Given the description of an element on the screen output the (x, y) to click on. 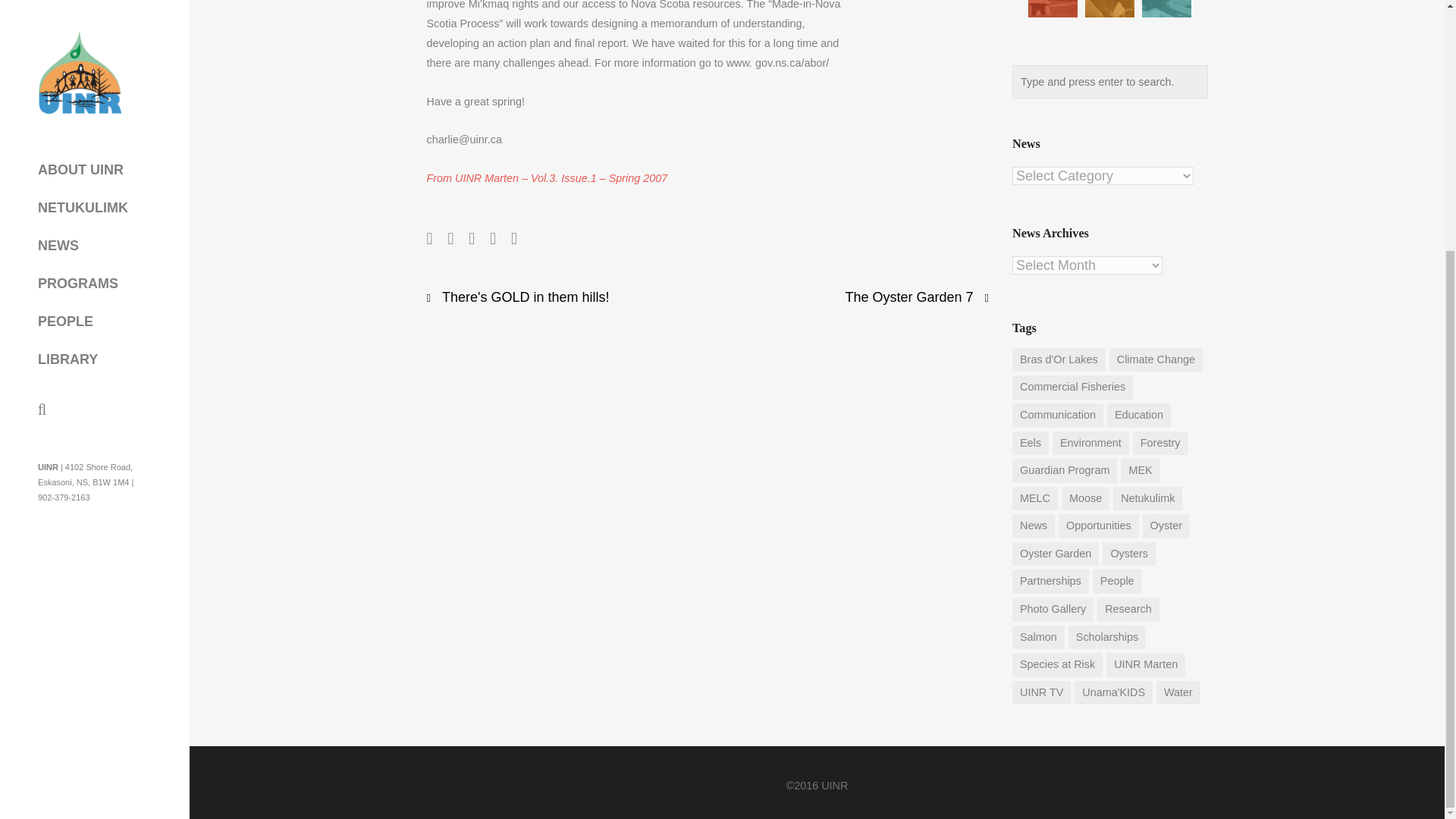
charlie-welcome-14 (920, 31)
LIBRARY (67, 11)
The Oyster Garden 7 (909, 296)
Opporuntities (1052, 8)
Share on Pinterest (513, 238)
Research (1166, 8)
Climate Change (1155, 360)
Bras d'Or Lakes (1058, 360)
There's GOLD in them hills! (526, 296)
Partnerships (1109, 8)
Share on Facebook (429, 238)
Share on Twitter (449, 238)
